Given the description of an element on the screen output the (x, y) to click on. 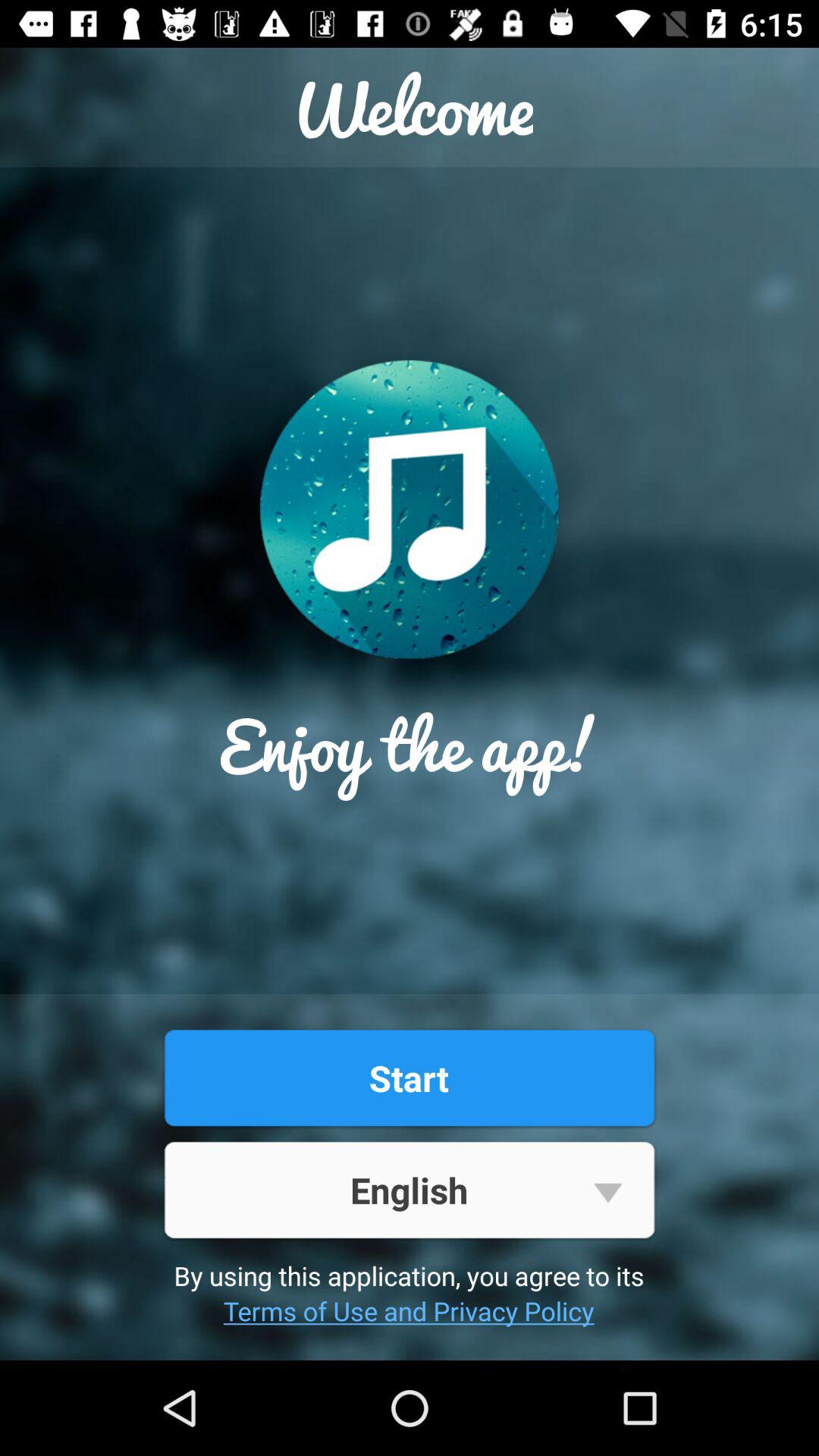
open the english item (409, 1190)
